Given the description of an element on the screen output the (x, y) to click on. 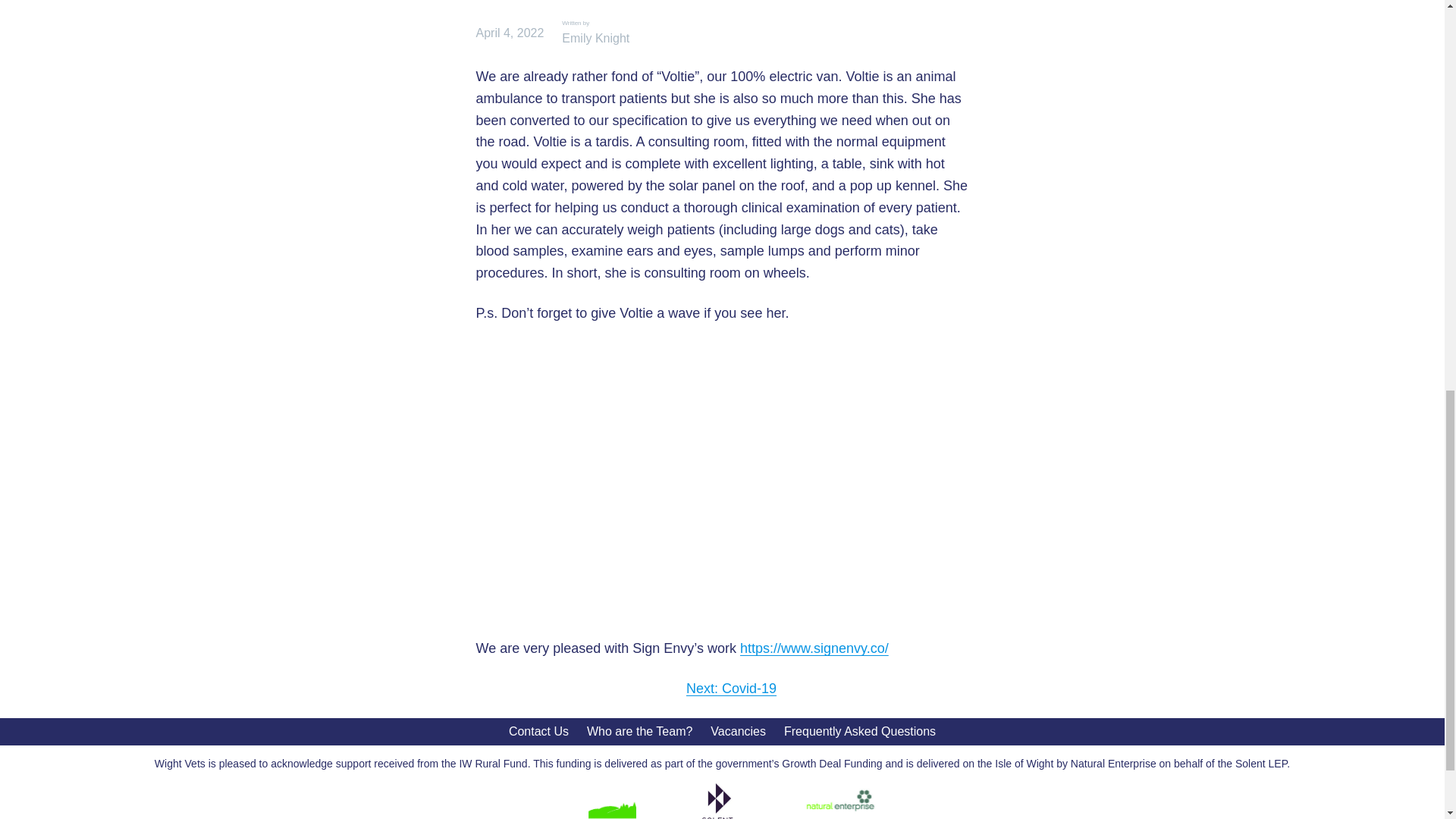
Contact Us (538, 731)
Next: Covid-19 (730, 688)
Who are the Team? (639, 731)
